Given the description of an element on the screen output the (x, y) to click on. 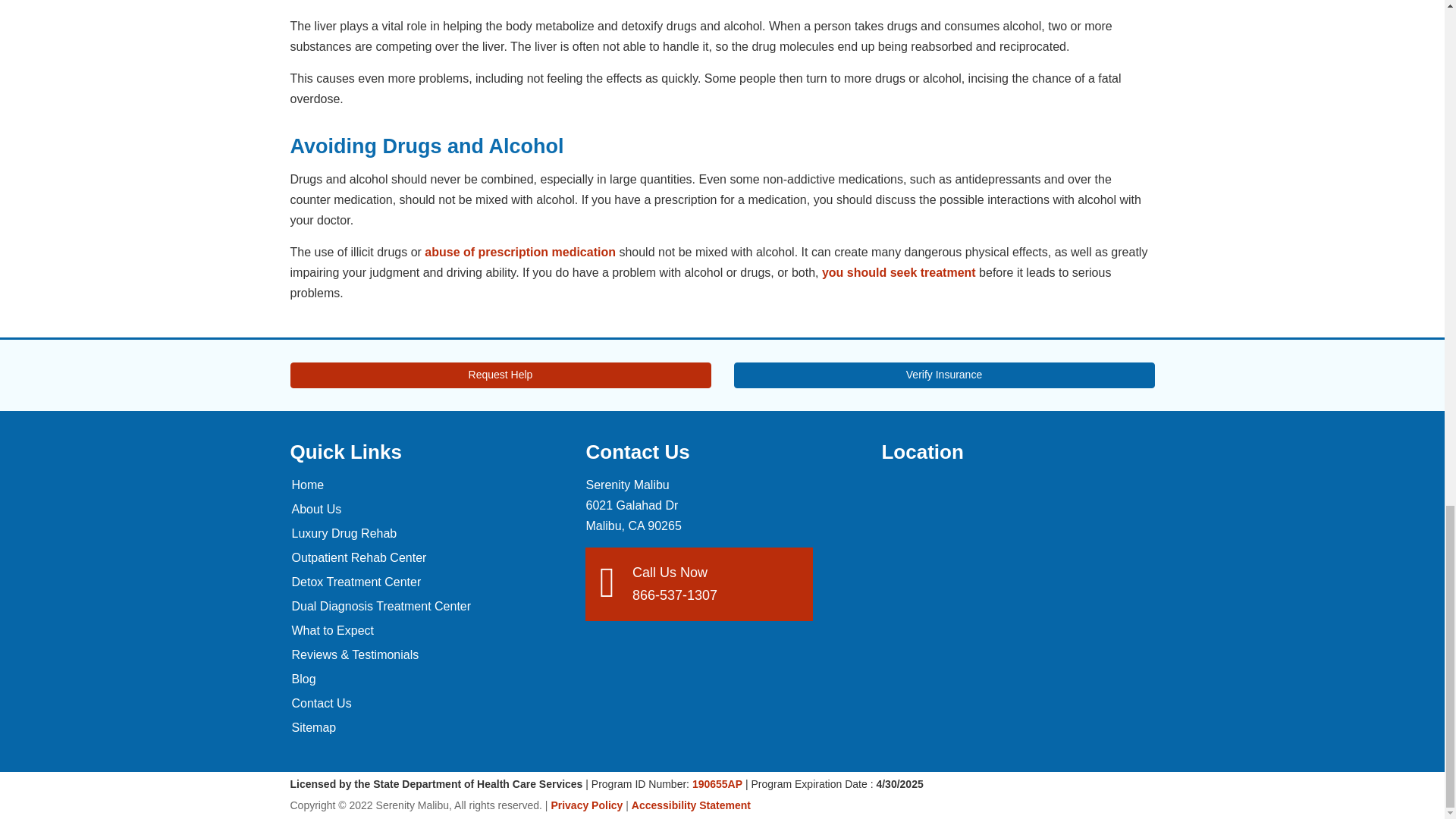
Prescription Drug Abuse (520, 251)
